Given the description of an element on the screen output the (x, y) to click on. 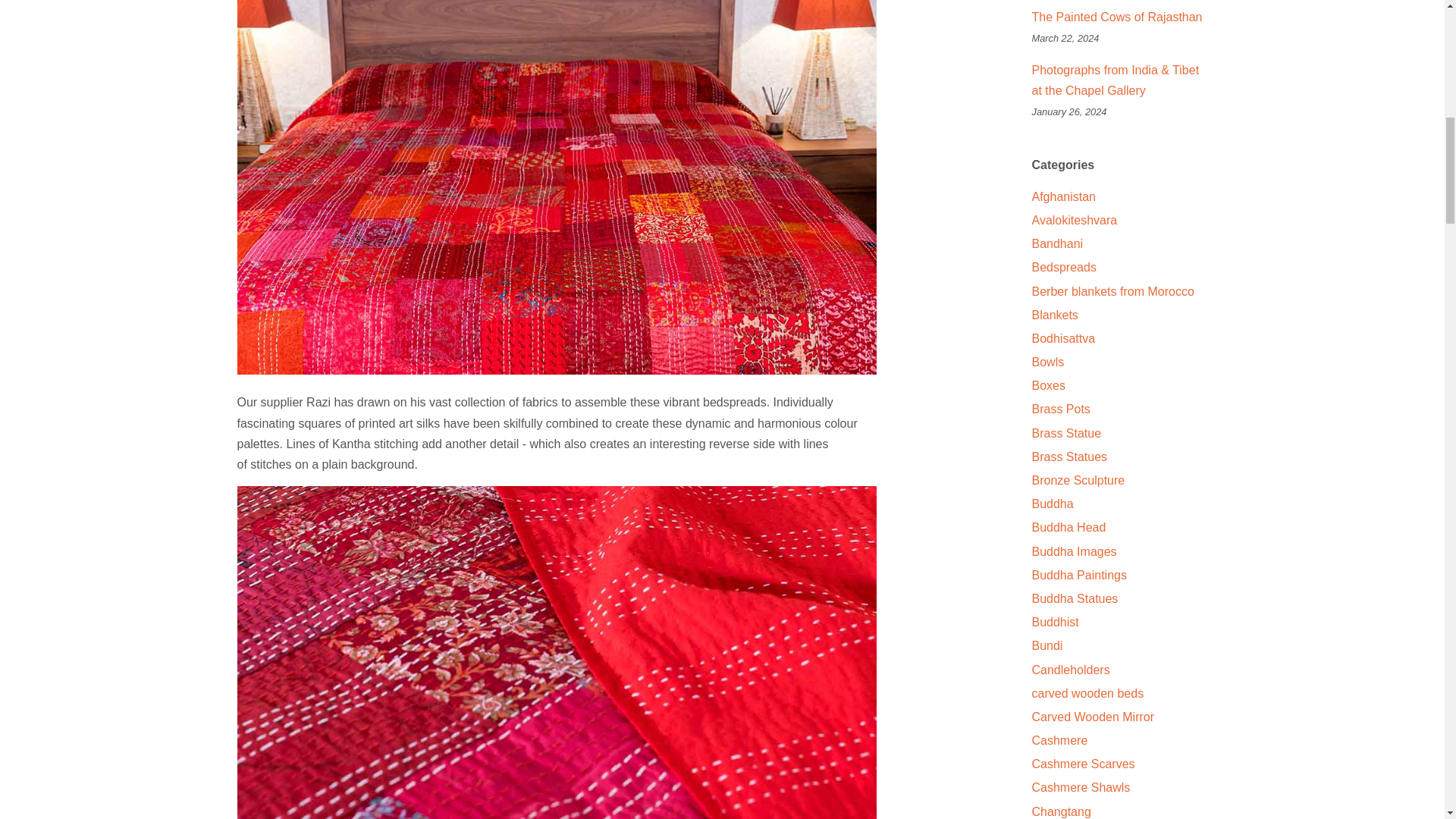
Show articles tagged Bedspreads (1063, 267)
Show articles tagged Berber blankets from Morocco (1111, 291)
Show articles tagged Brass Pots (1059, 408)
Show articles tagged Afghanistan (1063, 196)
Show articles tagged Boxes (1047, 385)
Show articles tagged Brass Statues (1068, 456)
Show articles tagged Bandhani (1056, 243)
Show articles tagged Bowls (1047, 361)
Show articles tagged Blankets (1053, 314)
Show articles tagged Brass Statue (1065, 432)
